Given the description of an element on the screen output the (x, y) to click on. 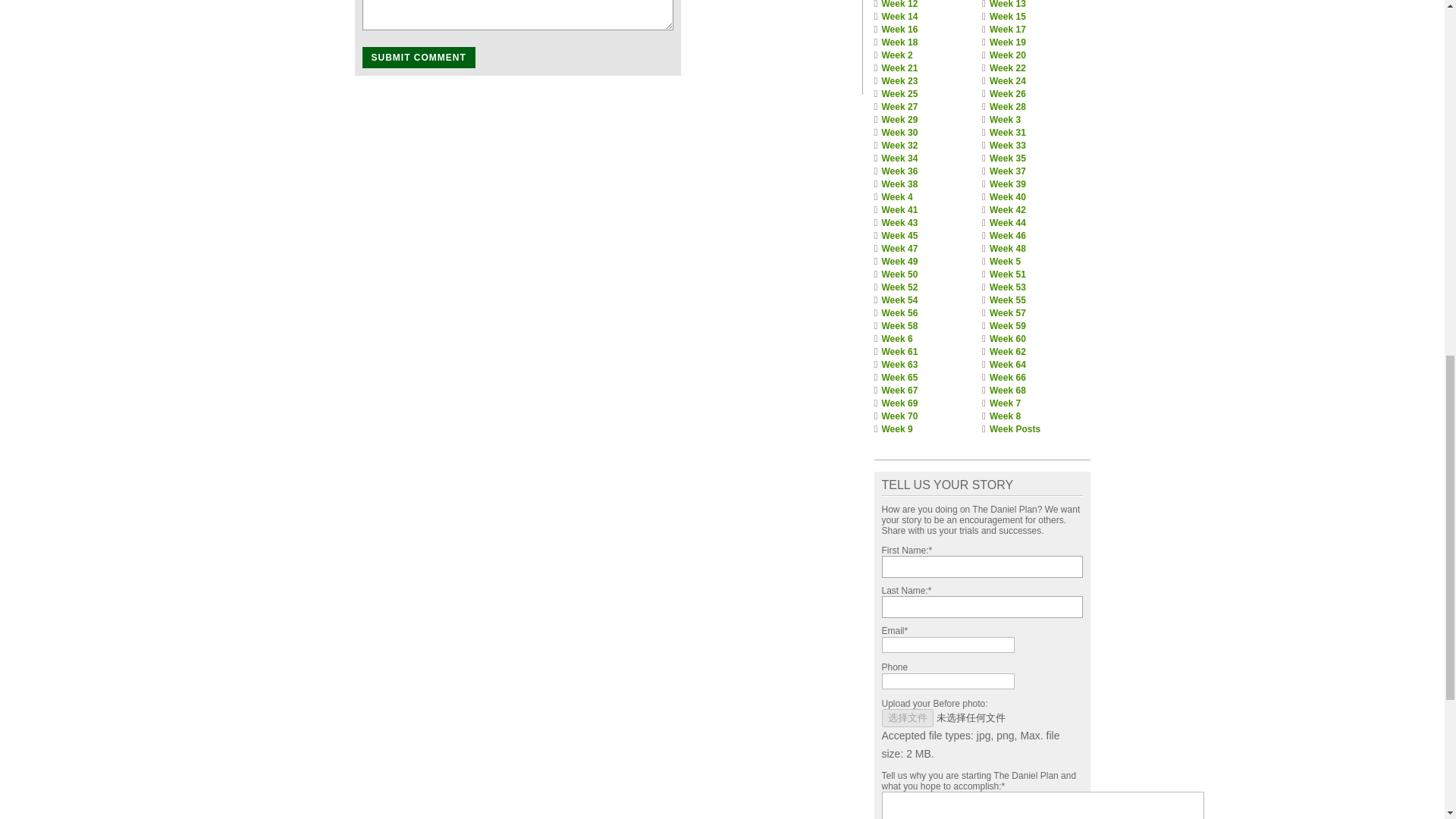
Submit Comment (419, 56)
